Given the description of an element on the screen output the (x, y) to click on. 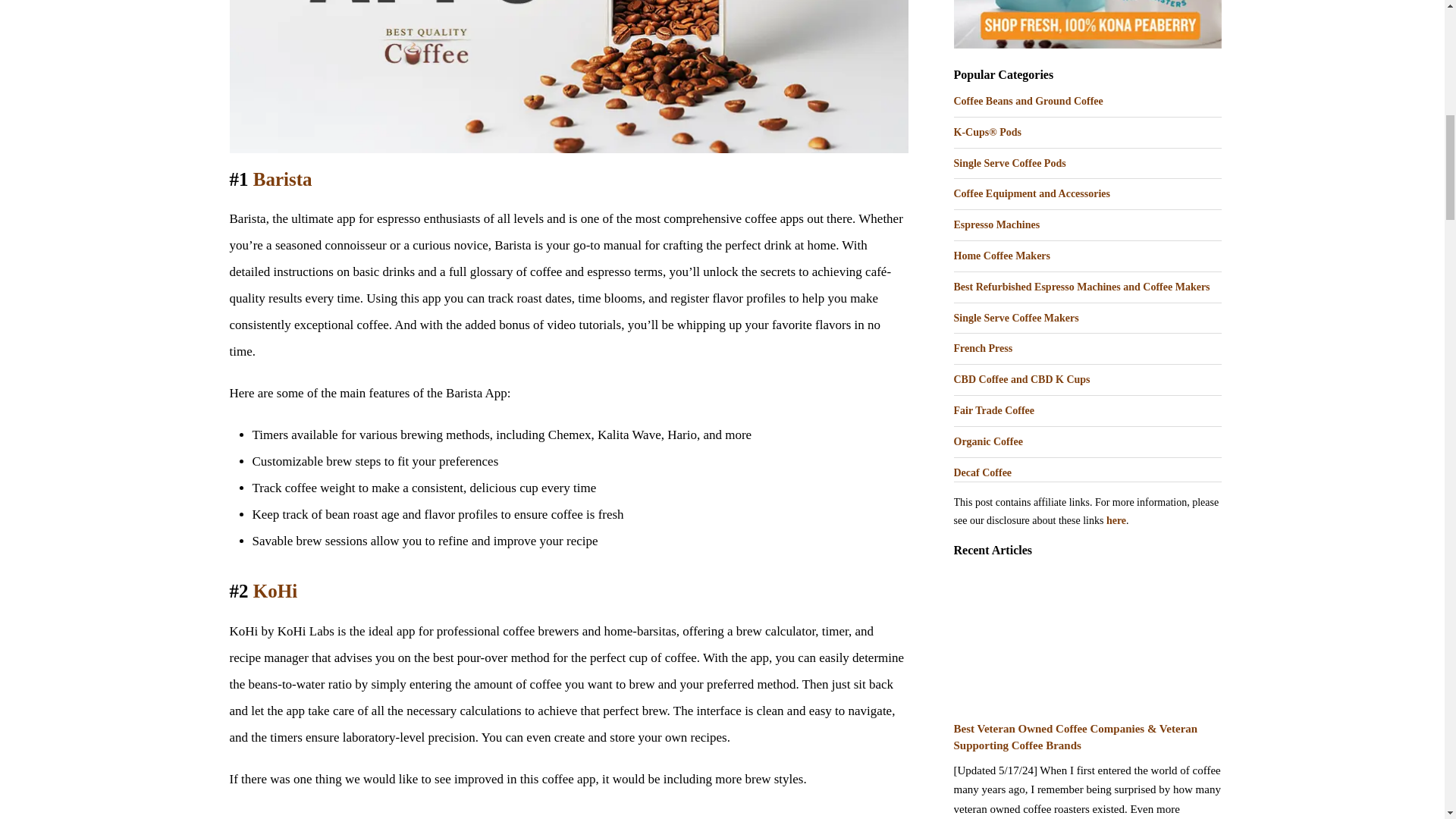
Big Island Roasters Coffee (1087, 24)
Best Quality Coffee Affiliate Disclosure (1115, 520)
